Given the description of an element on the screen output the (x, y) to click on. 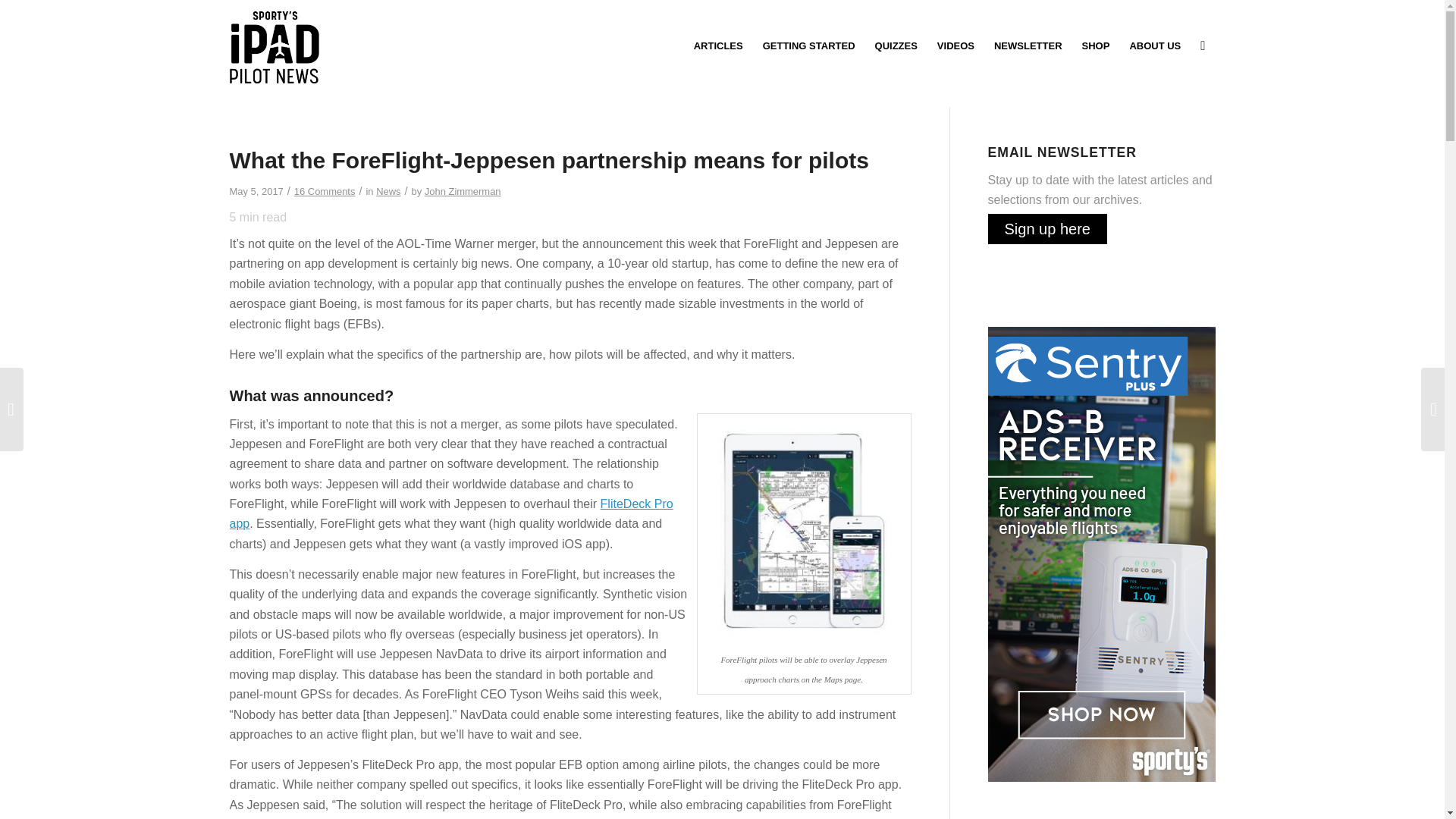
16 Comments (324, 191)
NEWSLETTER (1027, 45)
FliteDeck Pro app (450, 513)
Posts by John Zimmerman (462, 191)
John Zimmerman (462, 191)
GETTING STARTED (808, 45)
logo (273, 45)
News (387, 191)
